Given the description of an element on the screen output the (x, y) to click on. 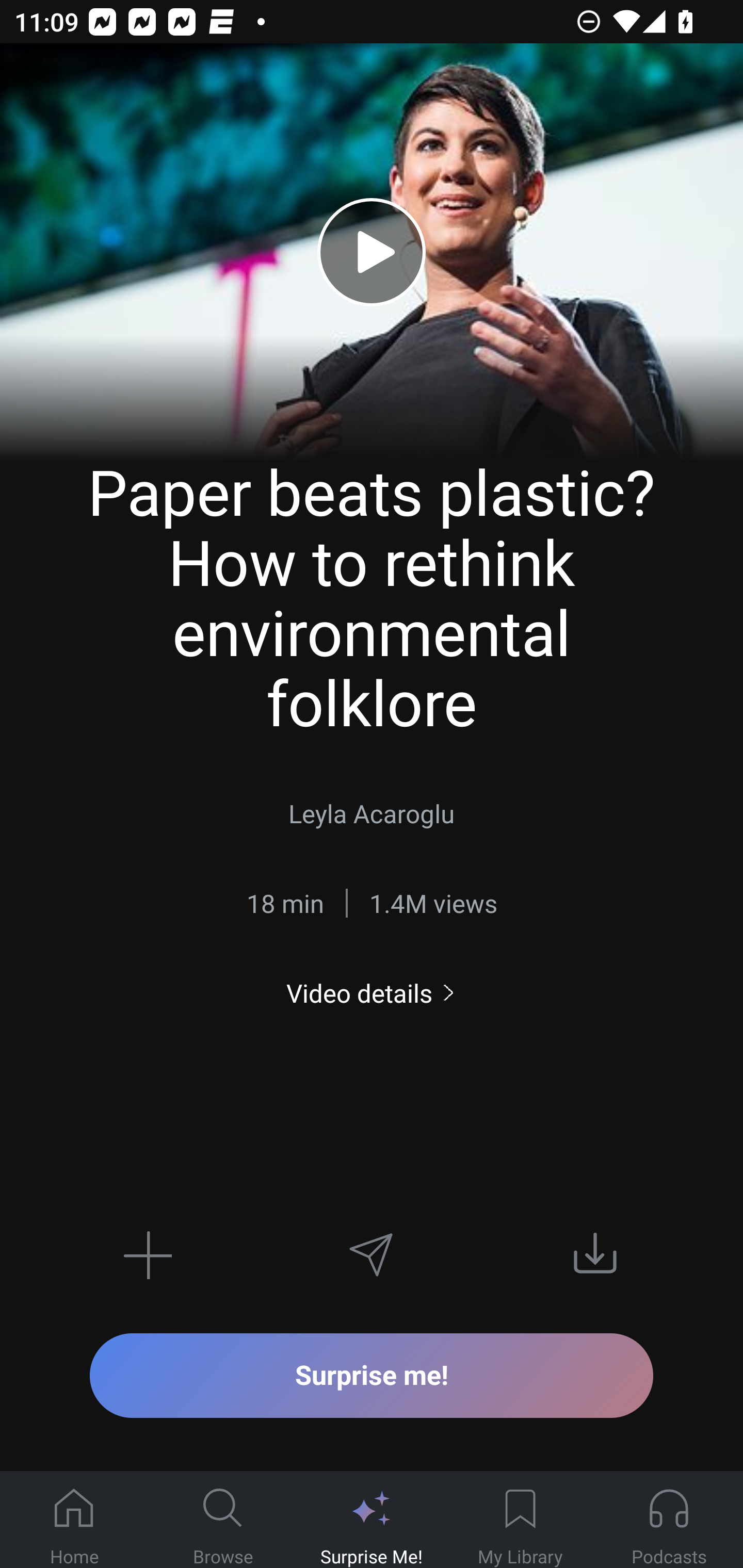
Video details (371, 993)
Surprise me! (371, 1374)
Home (74, 1520)
Browse (222, 1520)
Surprise Me! (371, 1520)
My Library (519, 1520)
Podcasts (668, 1520)
